Given the description of an element on the screen output the (x, y) to click on. 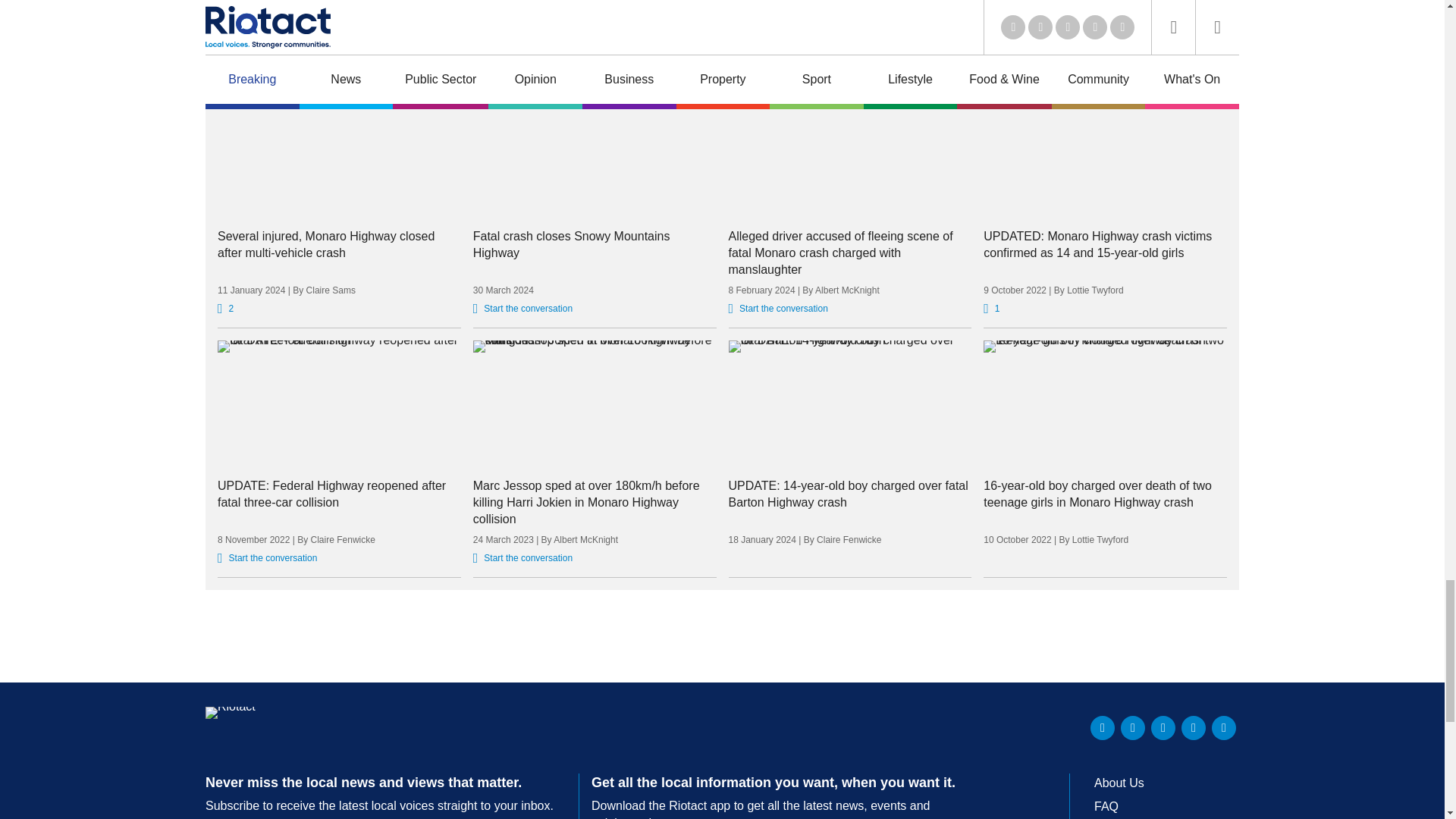
Facebook (1192, 727)
LinkedIn (1102, 727)
Twitter (1132, 727)
Instagram (1223, 727)
Youtube (1162, 727)
